Given the description of an element on the screen output the (x, y) to click on. 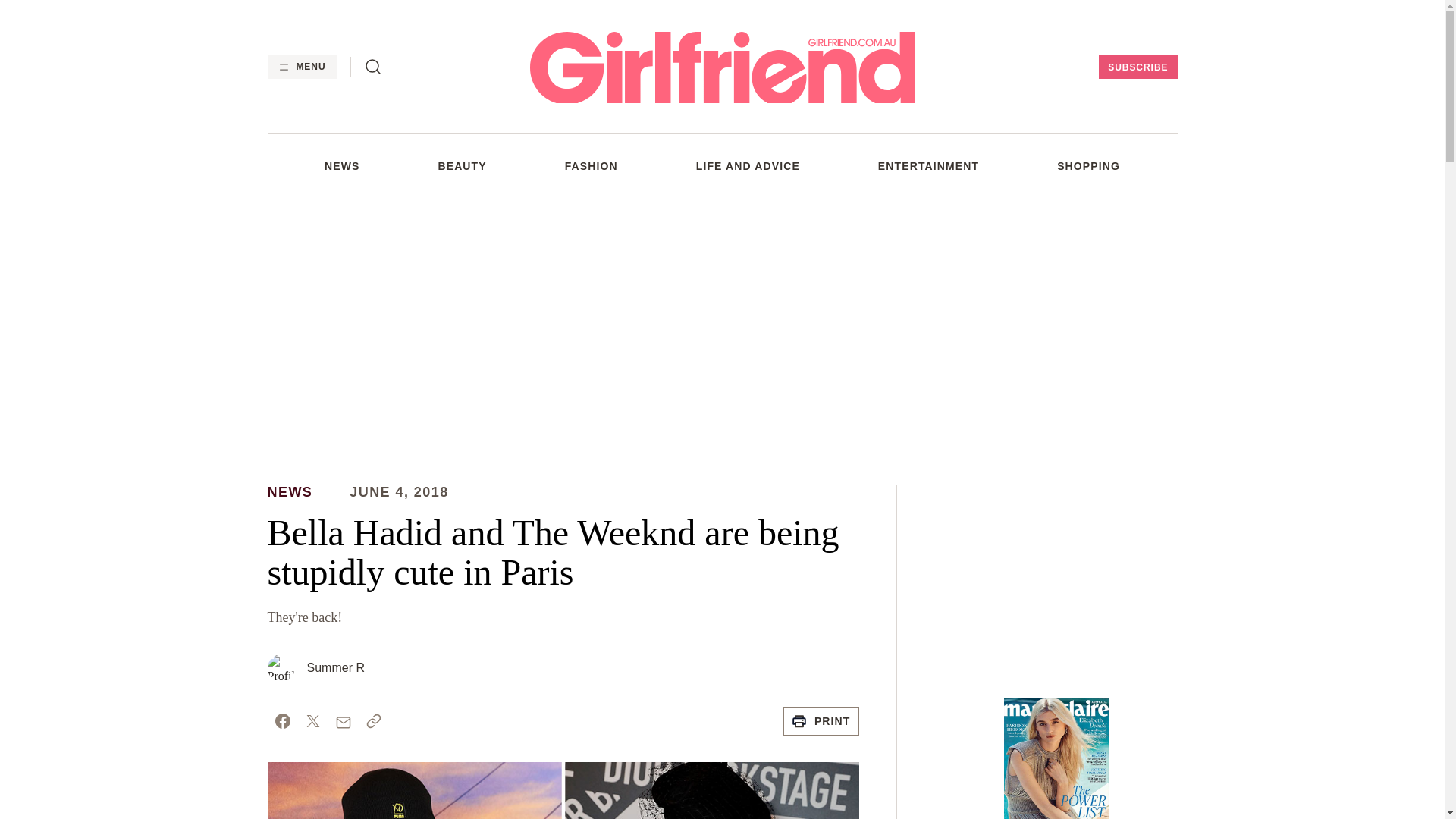
LIFE AND ADVICE (747, 165)
MENU (301, 66)
FASHION (590, 165)
SHOPPING (1088, 165)
SUBSCRIBE (1137, 66)
BEAUTY (462, 165)
ENTERTAINMENT (927, 165)
NEWS (341, 165)
3rd party ad content (1055, 579)
3rd party ad content (721, 325)
